Given the description of an element on the screen output the (x, y) to click on. 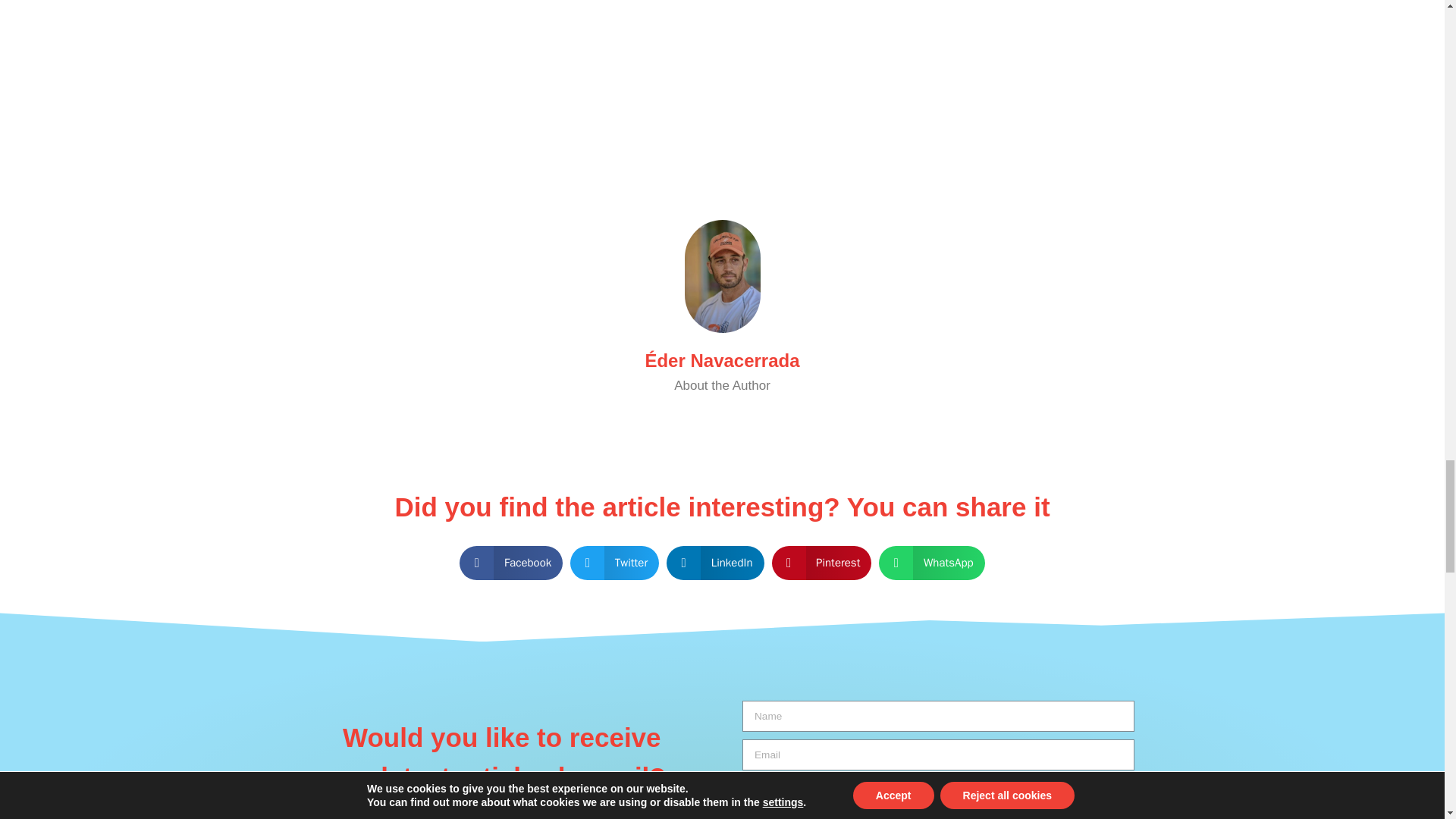
Why are Volvo safe, watch this - Volvo Cars Safety Centre (722, 67)
All Posts (721, 419)
on (747, 786)
Data Protection Policy (902, 787)
Subscribe Me (938, 811)
